Given the description of an element on the screen output the (x, y) to click on. 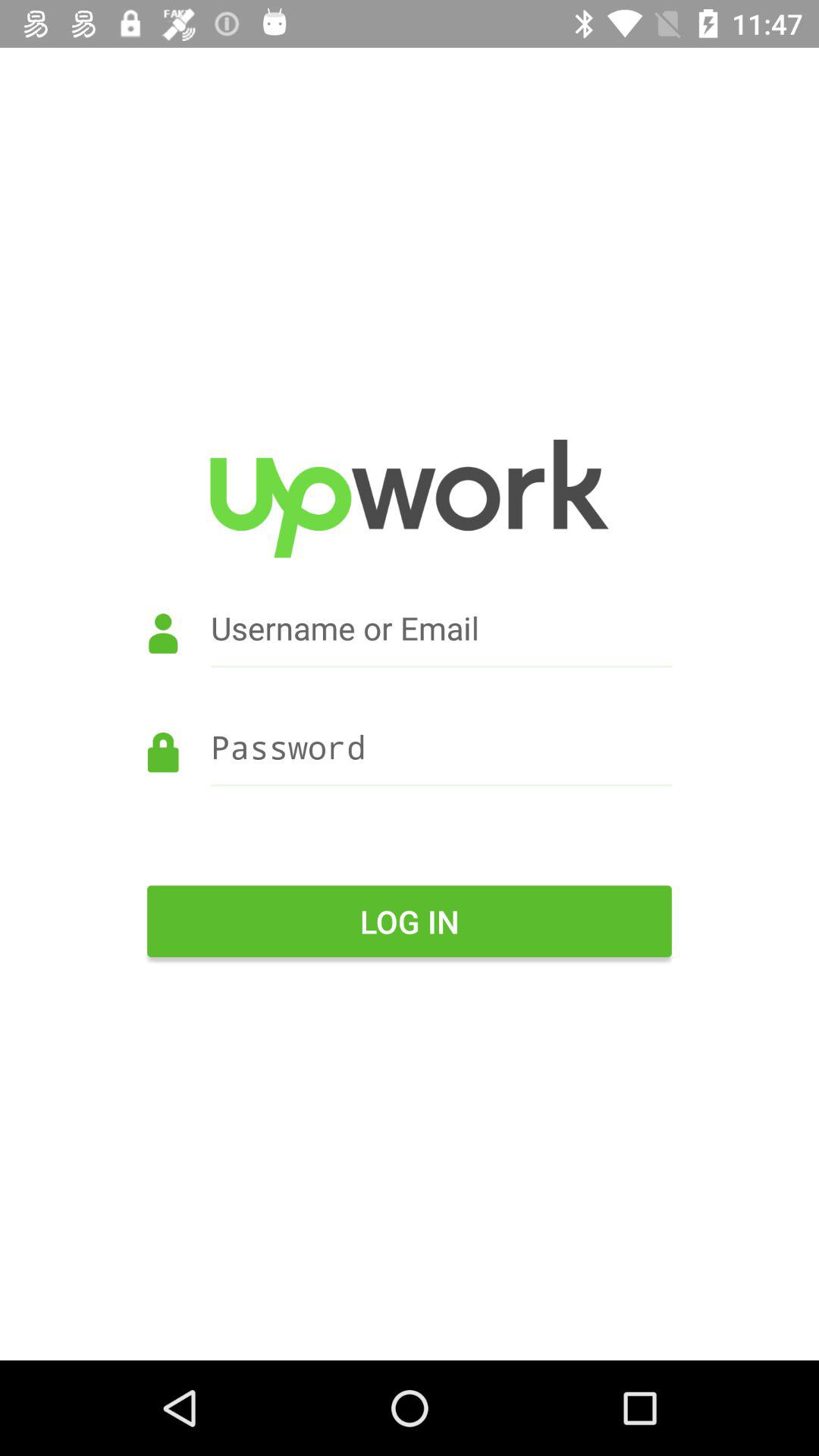
click log in icon (409, 921)
